Given the description of an element on the screen output the (x, y) to click on. 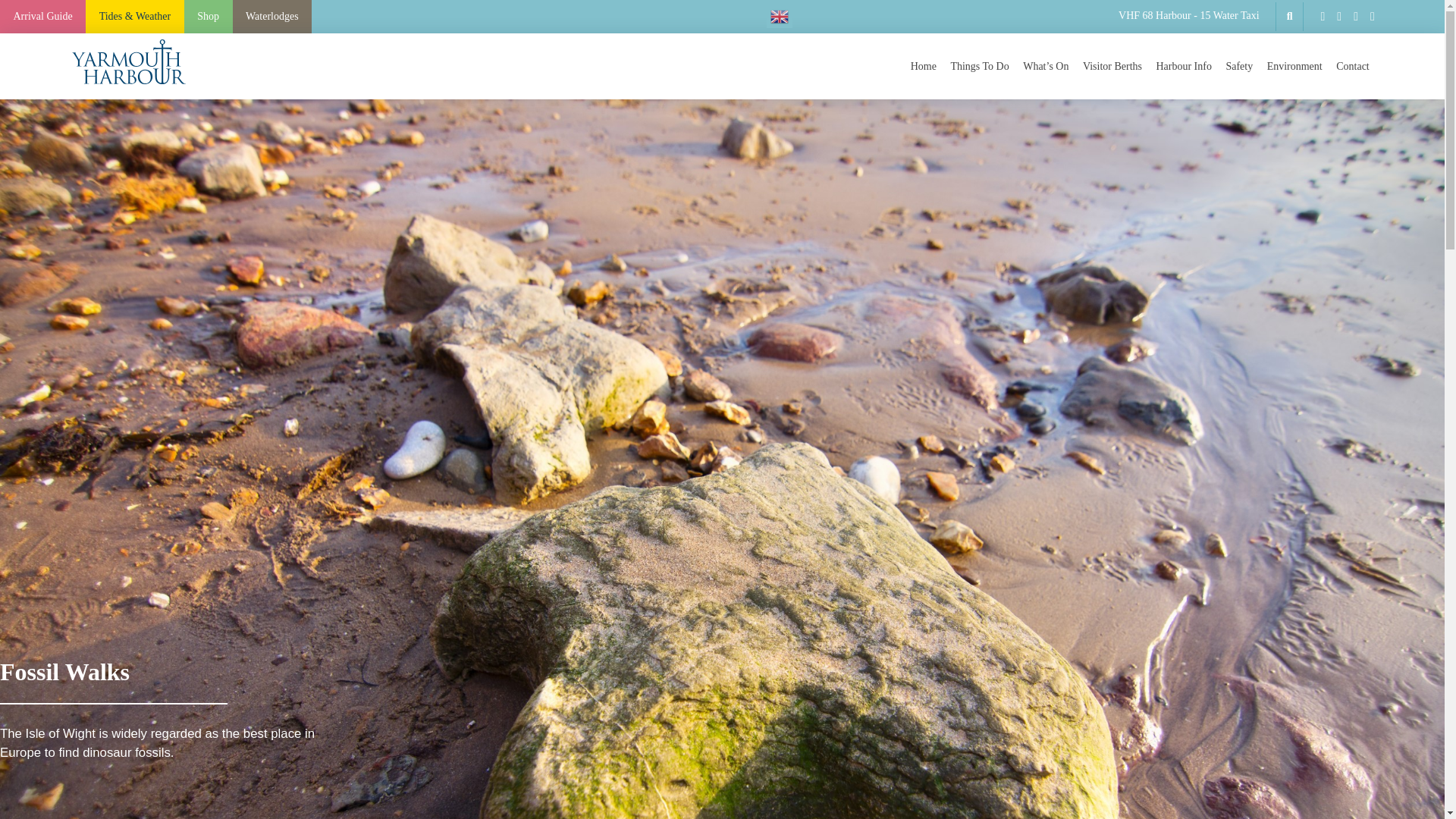
Shop (208, 16)
Home (922, 66)
Things To Do (979, 66)
Waterlodges (271, 16)
Arrival Guide (42, 16)
